Given the description of an element on the screen output the (x, y) to click on. 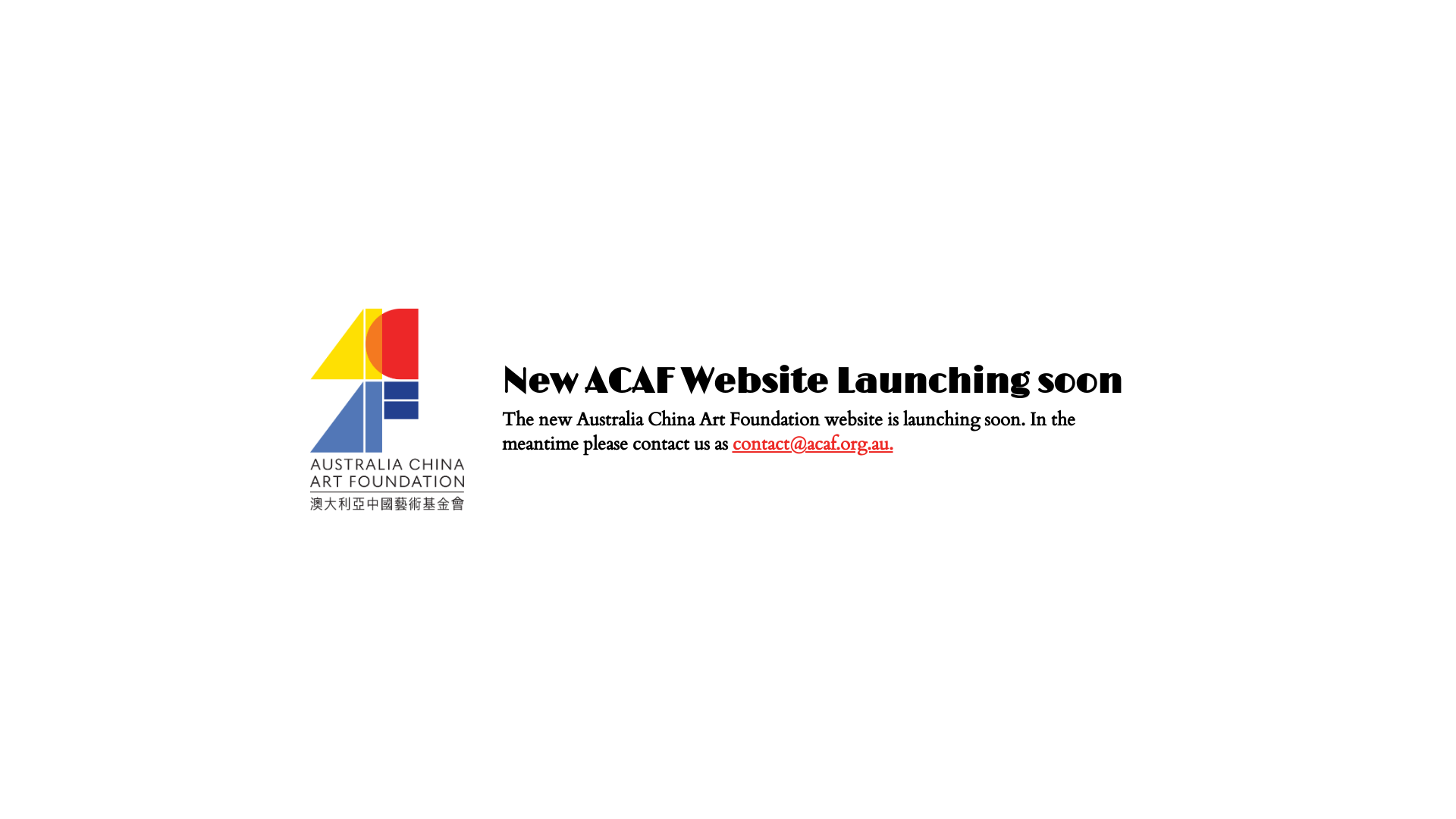
contact@acaf.org.au. Element type: text (812, 443)
